Given the description of an element on the screen output the (x, y) to click on. 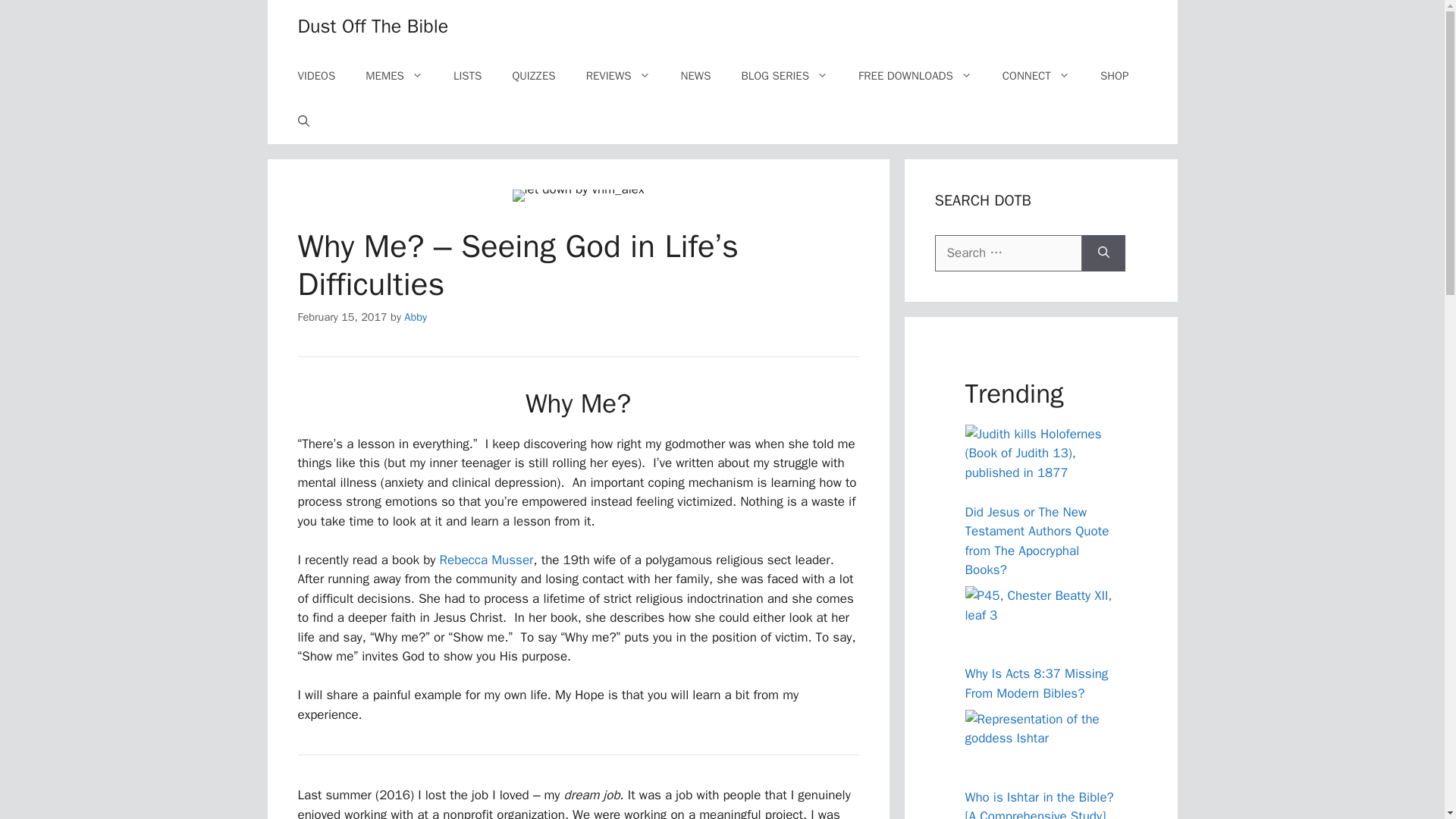
Dust Off The Bible (372, 25)
VIDEOS (316, 75)
QUIZZES (533, 75)
Search for: (1007, 253)
MEMES (394, 75)
FREE DOWNLOADS (915, 75)
NEWS (695, 75)
LISTS (467, 75)
REVIEWS (617, 75)
View all posts by Abby (415, 316)
